Given the description of an element on the screen output the (x, y) to click on. 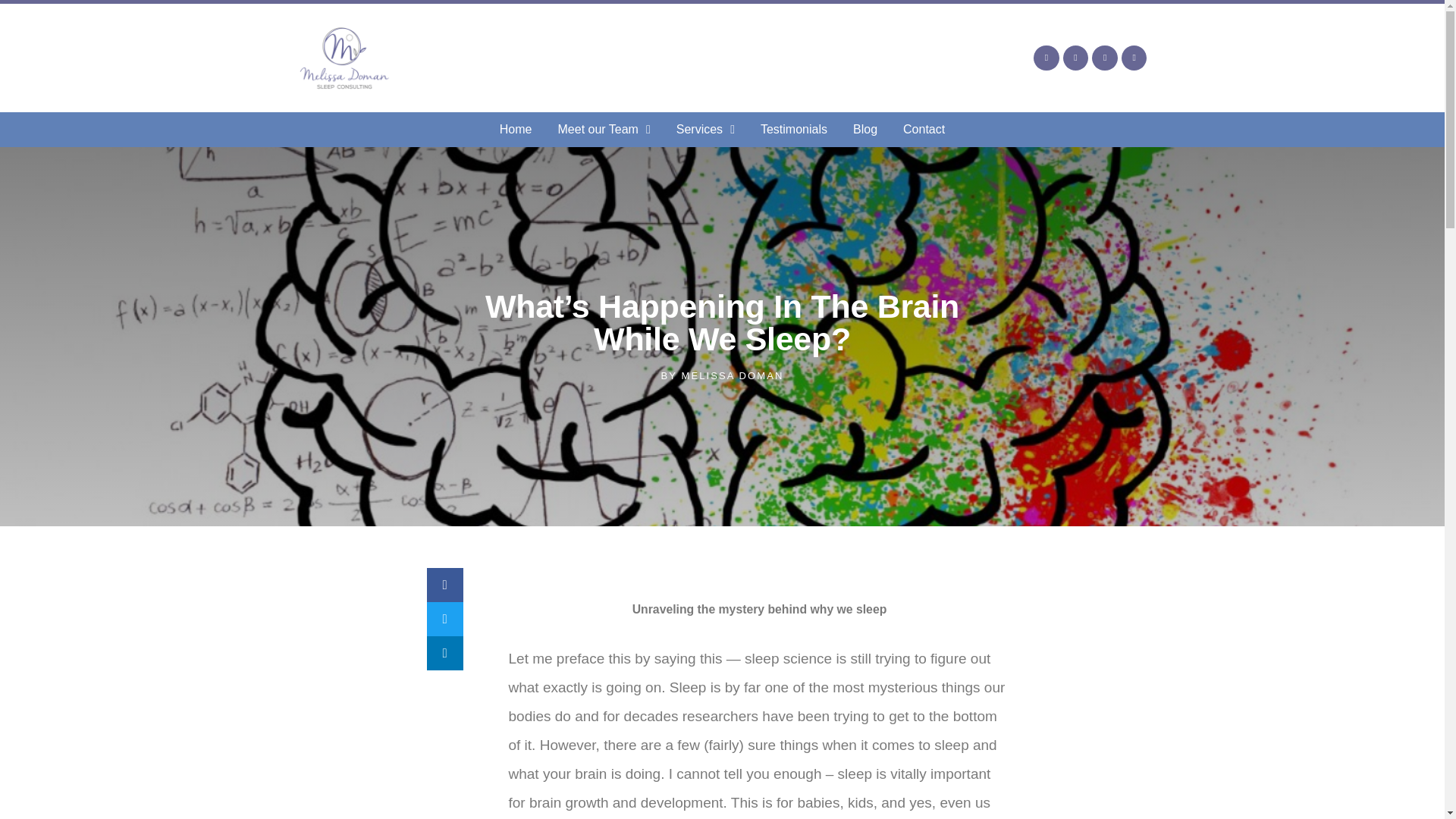
Contact (923, 129)
Meet our Team (603, 129)
Testimonials (794, 129)
Blog (864, 129)
Home (515, 129)
Services (705, 129)
BY MELISSA DOMAN (722, 376)
